Given the description of an element on the screen output the (x, y) to click on. 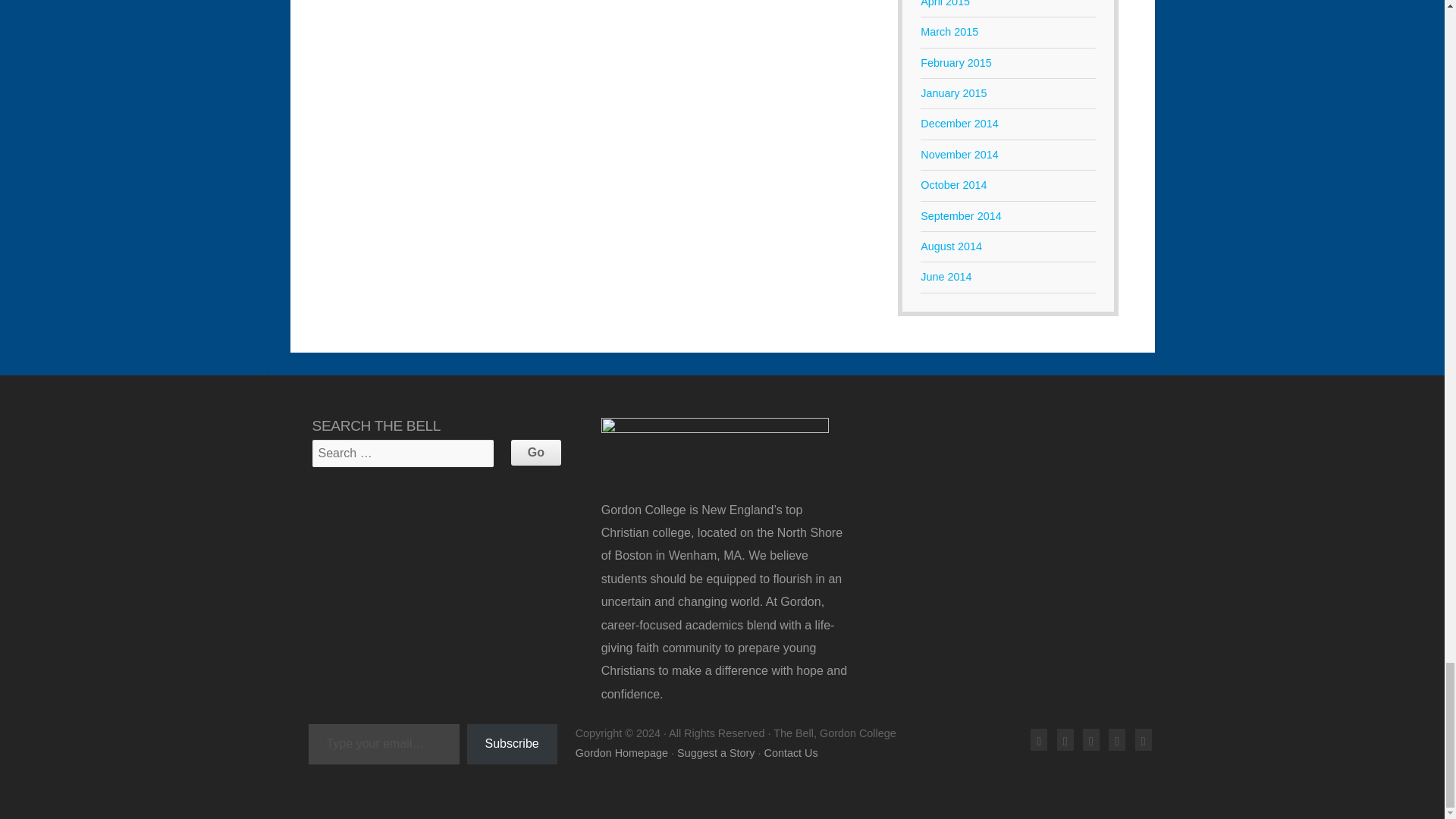
Please fill in this field. (382, 743)
Go (535, 452)
